Given the description of an element on the screen output the (x, y) to click on. 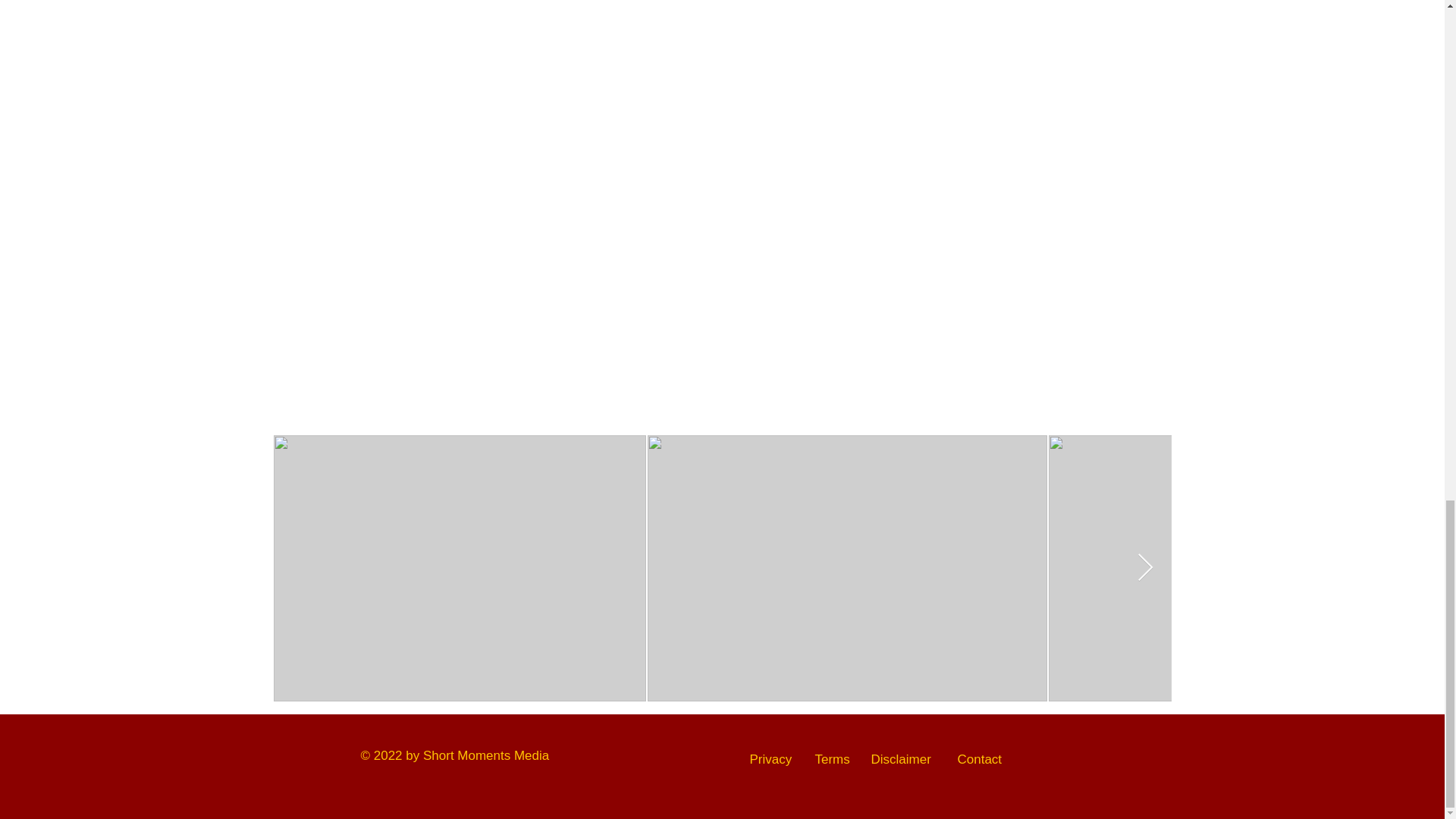
Terms (830, 759)
Privacy (770, 759)
Contact (978, 759)
Disclaimer (900, 759)
